Given the description of an element on the screen output the (x, y) to click on. 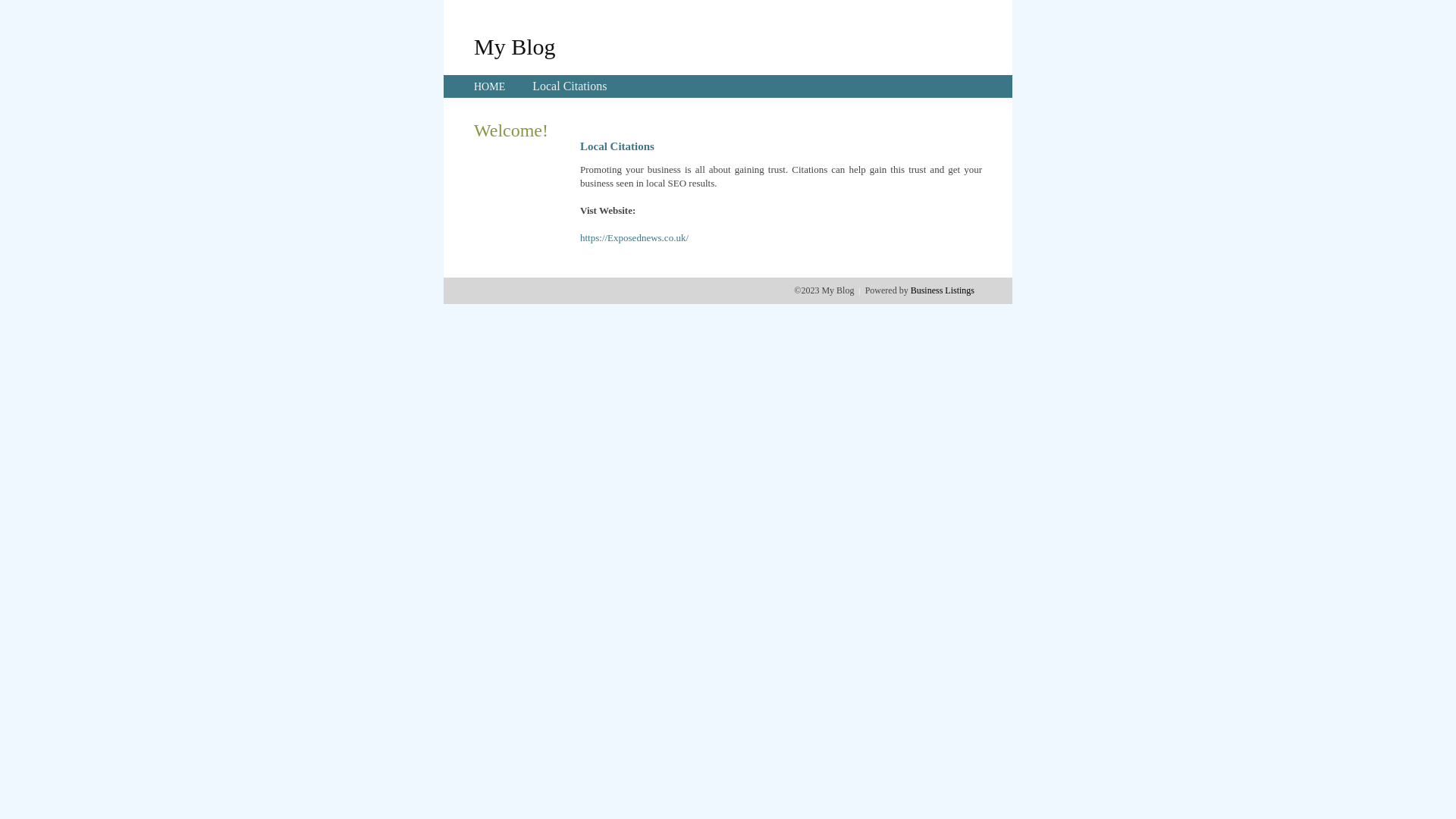
Business Listings Element type: text (942, 290)
https://Exposednews.co.uk/ Element type: text (634, 237)
Local Citations Element type: text (569, 85)
My Blog Element type: text (514, 46)
HOME Element type: text (489, 86)
